Given the description of an element on the screen output the (x, y) to click on. 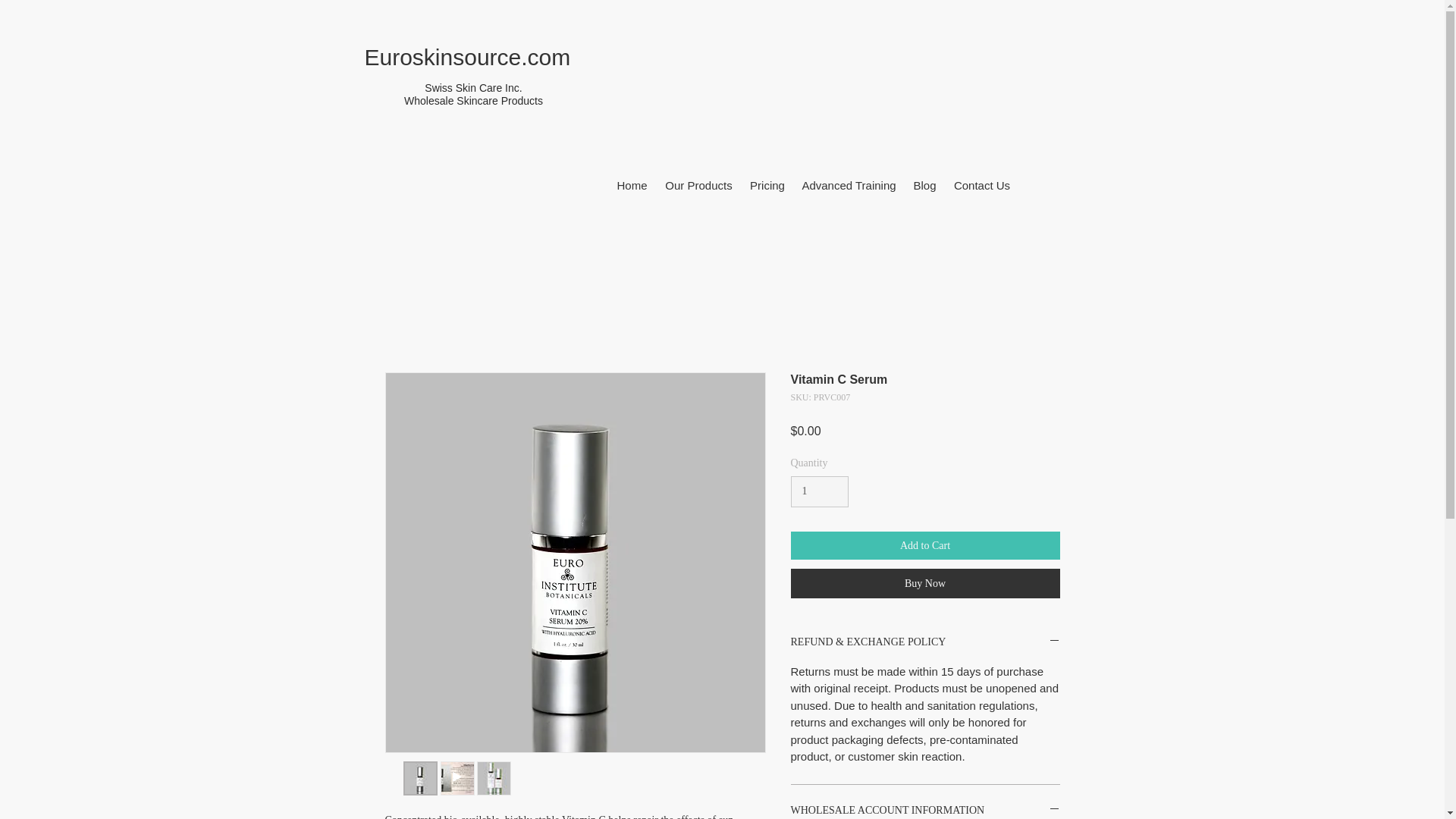
Euroskinsource.com (467, 57)
Pricing (767, 185)
Home (632, 185)
WHOLESALE ACCOUNT INFORMATION (924, 811)
Our Products (698, 185)
Advanced Training (848, 185)
Blog (924, 185)
Contact Us (980, 185)
Add to Cart (924, 545)
Buy Now (924, 583)
